Given the description of an element on the screen output the (x, y) to click on. 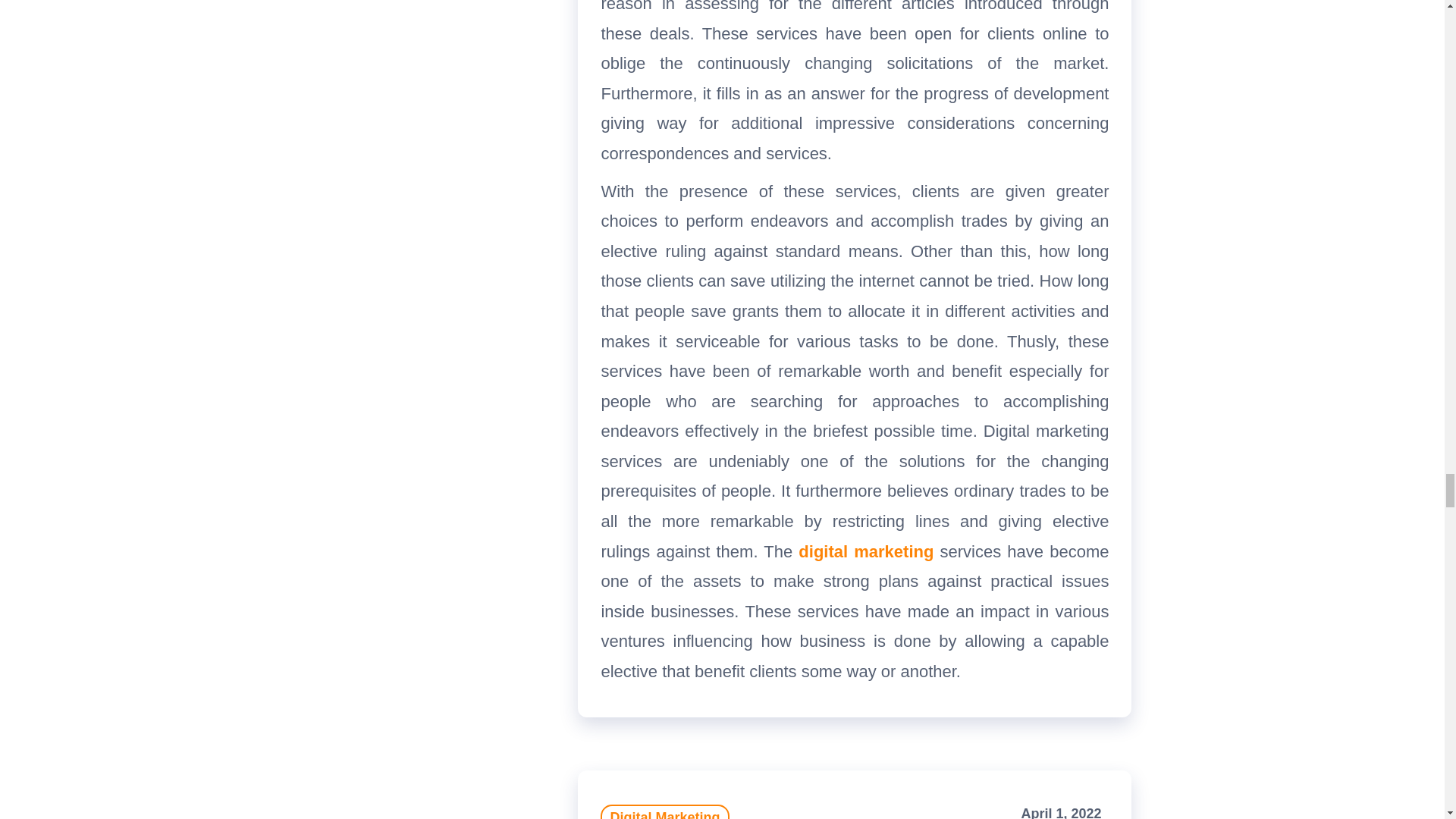
Digital Marketing (664, 811)
digital marketing (865, 551)
